Given the description of an element on the screen output the (x, y) to click on. 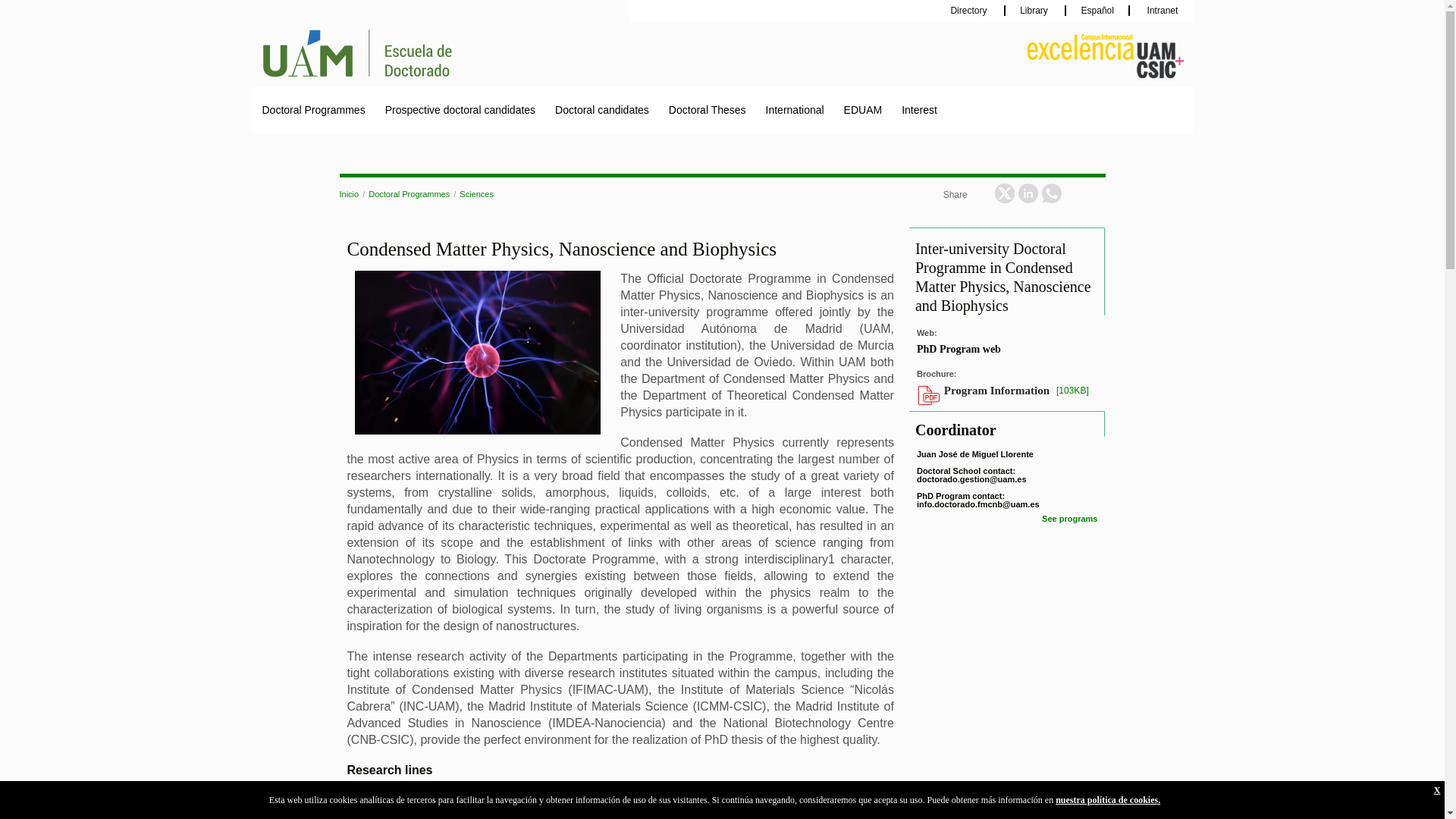
Intranet (1160, 9)
Prospective doctoral candidates (459, 109)
Intranet (1160, 9)
Doctoral Programmes (312, 109)
Directory (971, 9)
Library (1035, 9)
Directory (971, 9)
Logotipo  Escuela de Doctorado (410, 54)
Library (1035, 9)
